Given the description of an element on the screen output the (x, y) to click on. 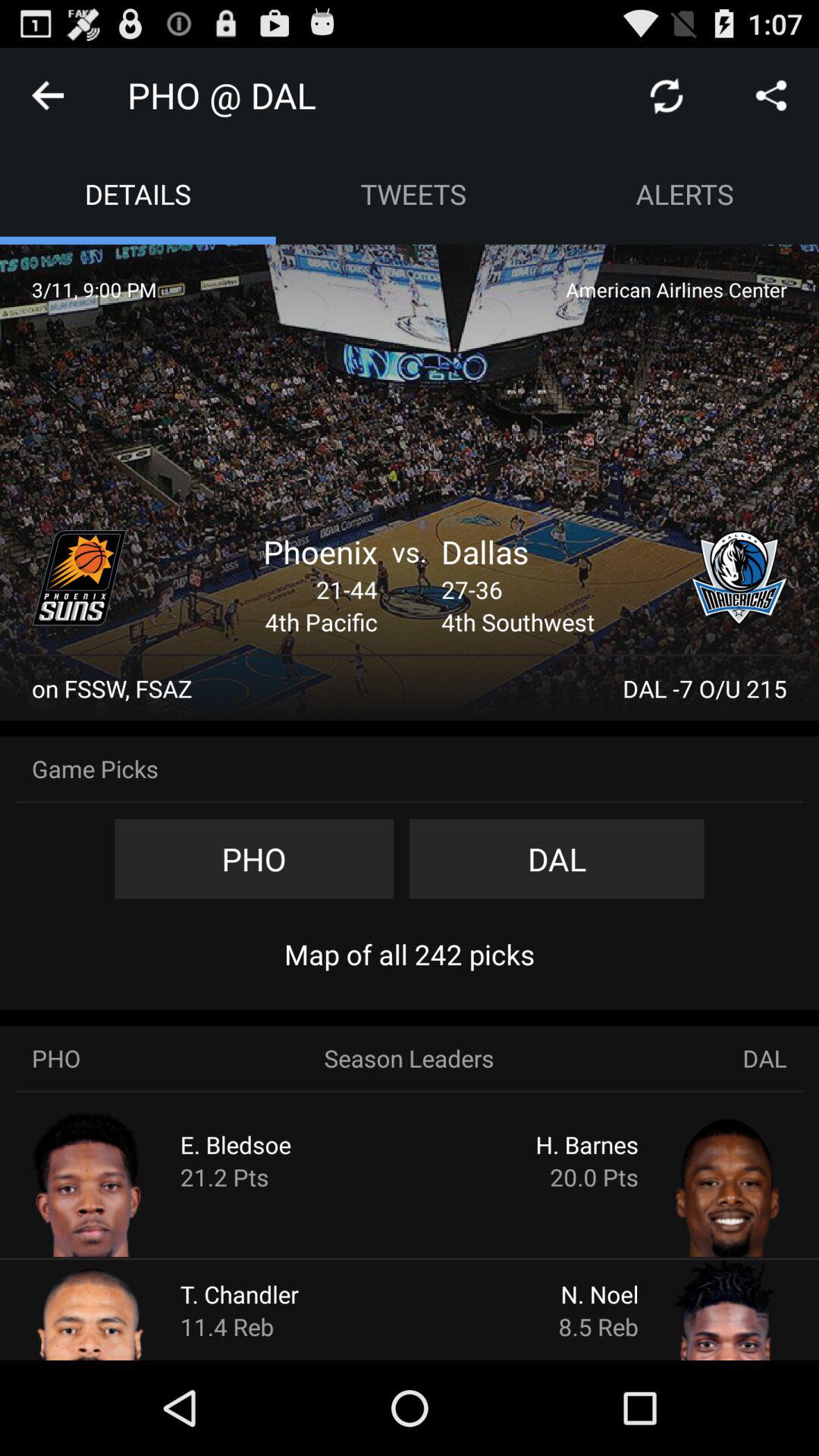
find more information about e. bledsoe (119, 1183)
